Given the description of an element on the screen output the (x, y) to click on. 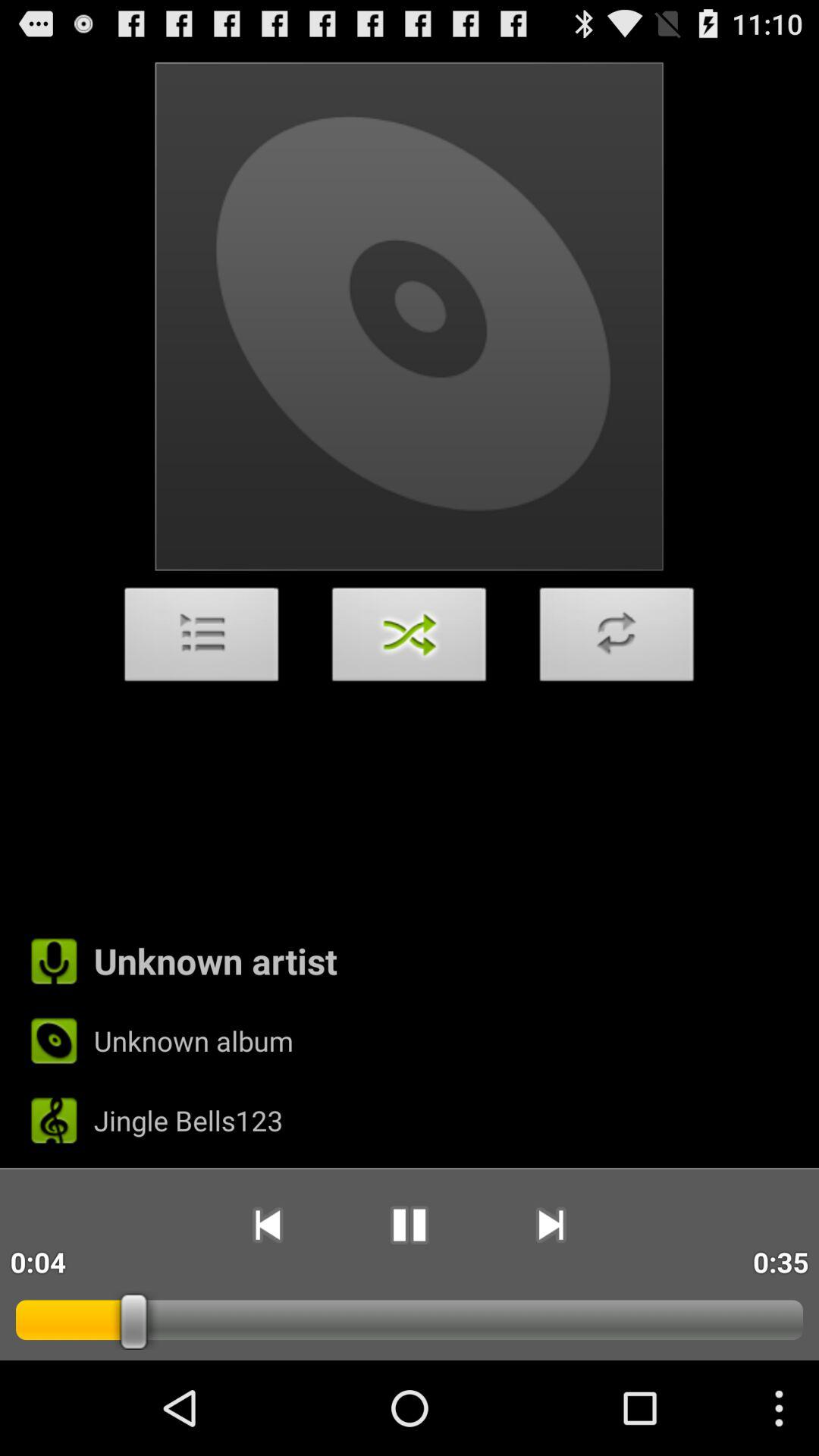
choose item above the unknown artist app (201, 638)
